Given the description of an element on the screen output the (x, y) to click on. 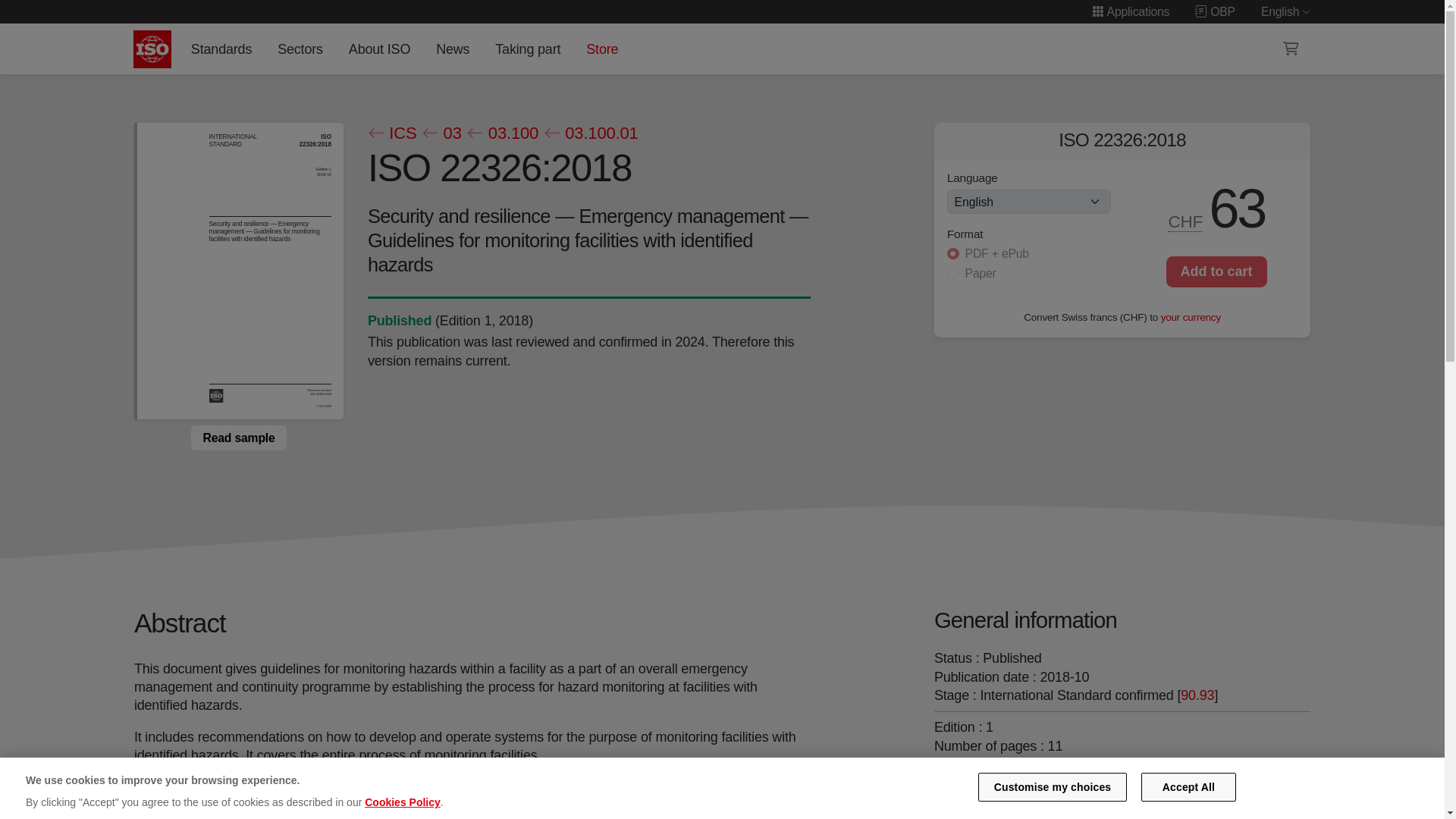
Shopping cart (1290, 49)
International Organization for Standardization (152, 48)
 Applications (1130, 11)
Published (398, 320)
Sectors (300, 48)
 OBP (1214, 11)
Emergency management (1120, 777)
Life cycle (398, 320)
